Given the description of an element on the screen output the (x, y) to click on. 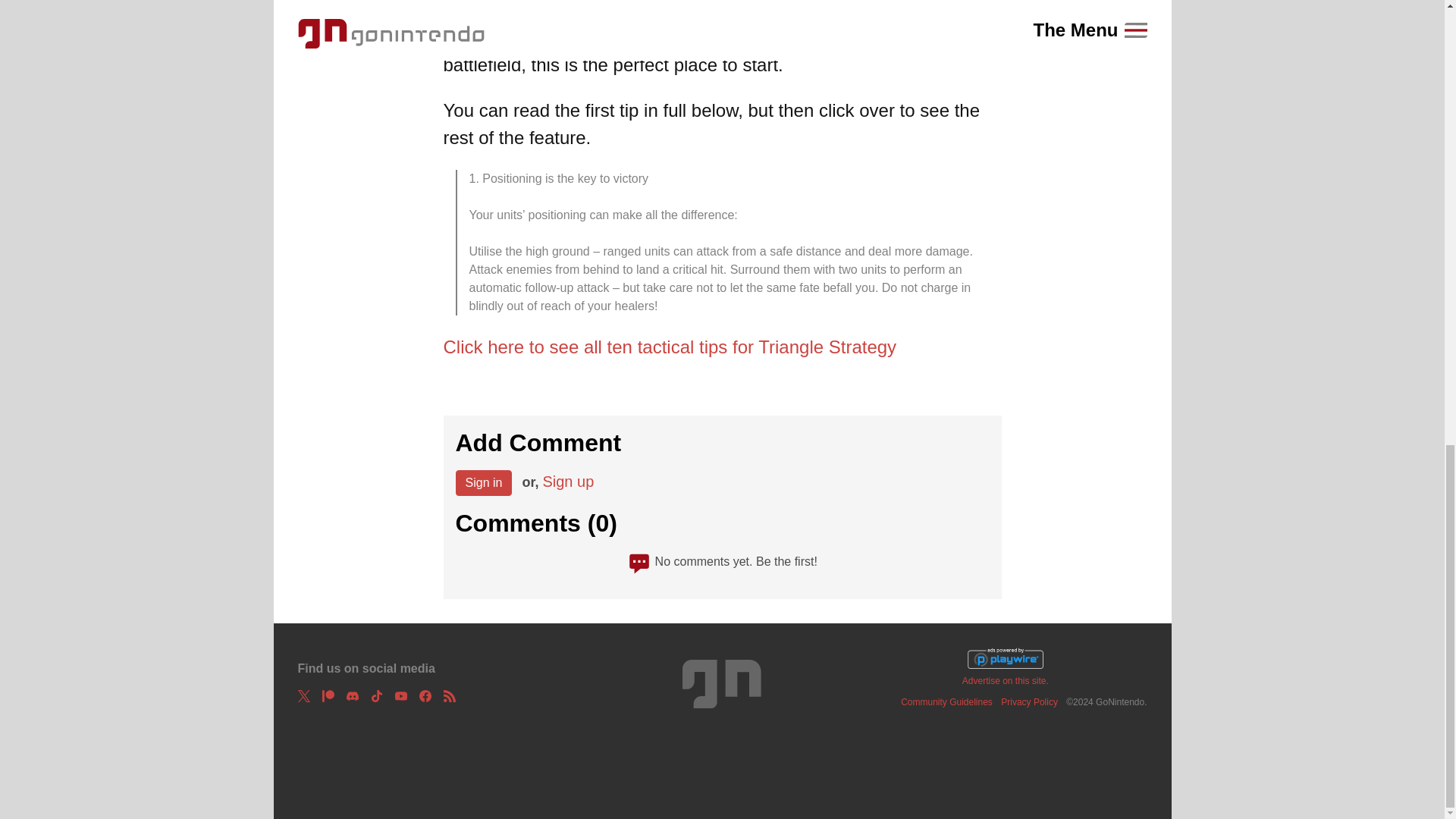
Follow us on TikTok (375, 695)
Follow us on X (302, 695)
Support GN on Patreon (327, 695)
Discord Invite (352, 695)
